Given the description of an element on the screen output the (x, y) to click on. 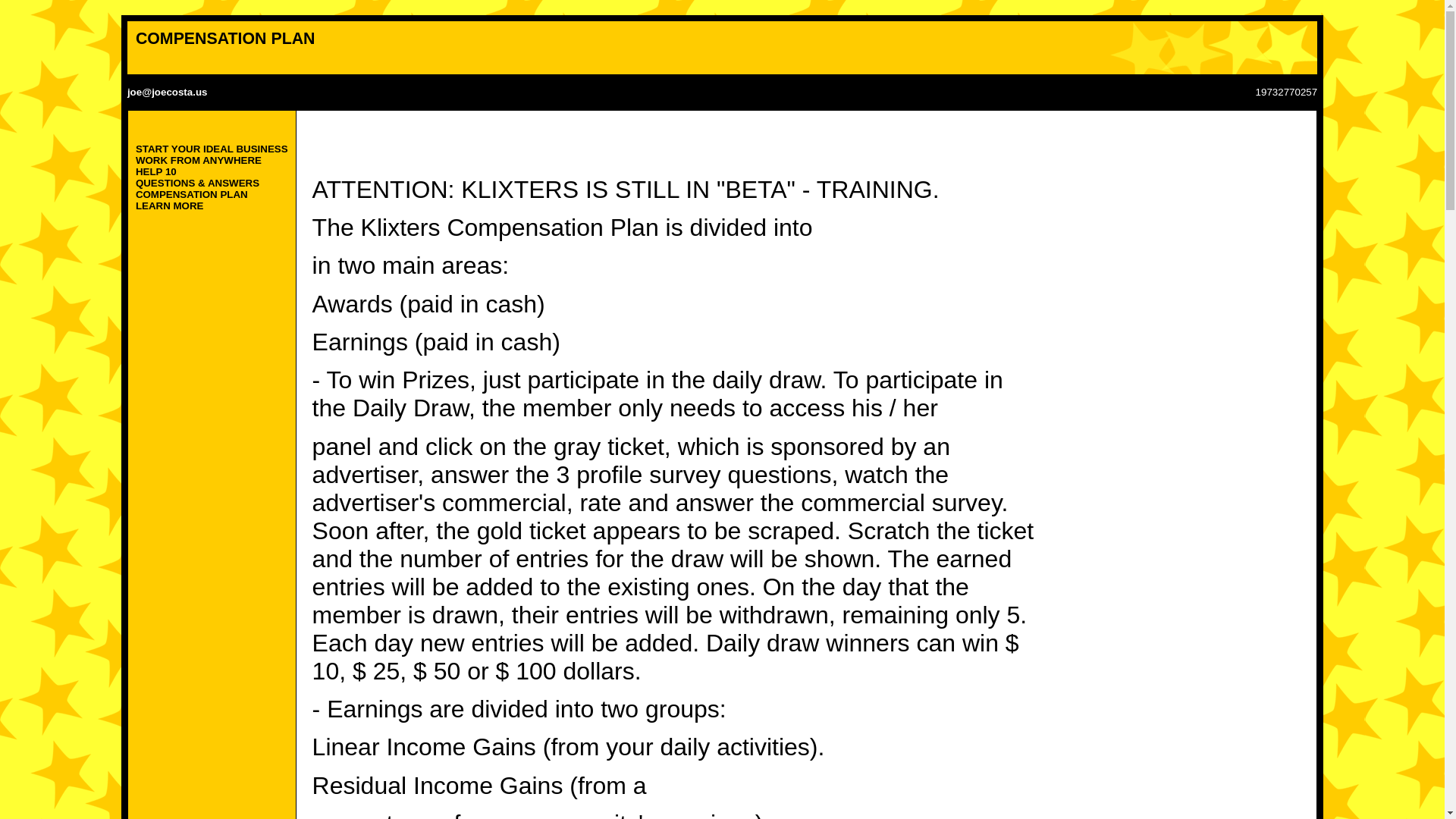
WORK FROM ANYWHERE (198, 160)
COMPENSATION PLAN (191, 194)
HELP 10 (155, 171)
LEARN MORE (169, 205)
START YOUR IDEAL BUSINESS (211, 148)
